Given the description of an element on the screen output the (x, y) to click on. 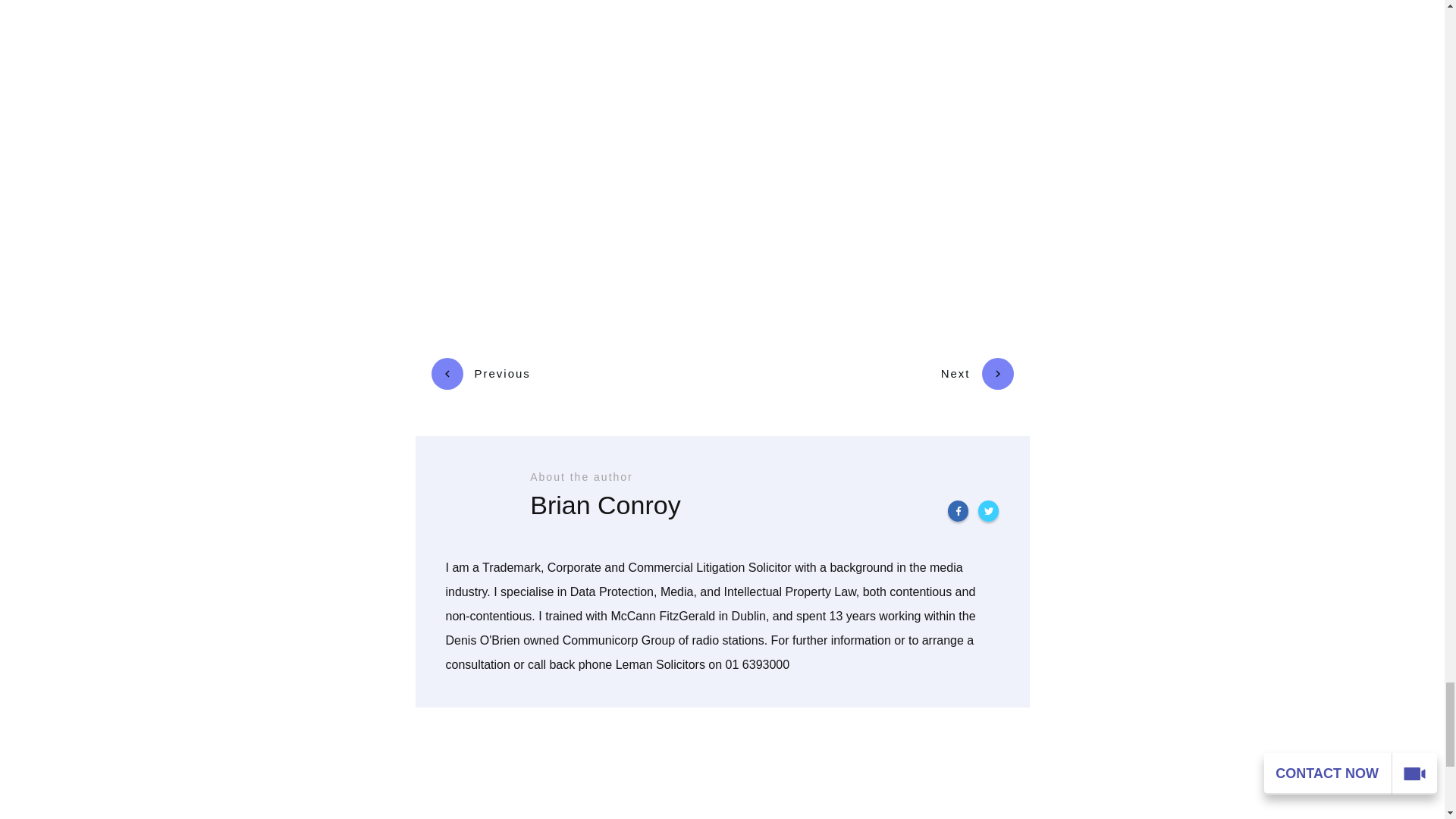
Previous (479, 373)
Next (976, 373)
